Given the description of an element on the screen output the (x, y) to click on. 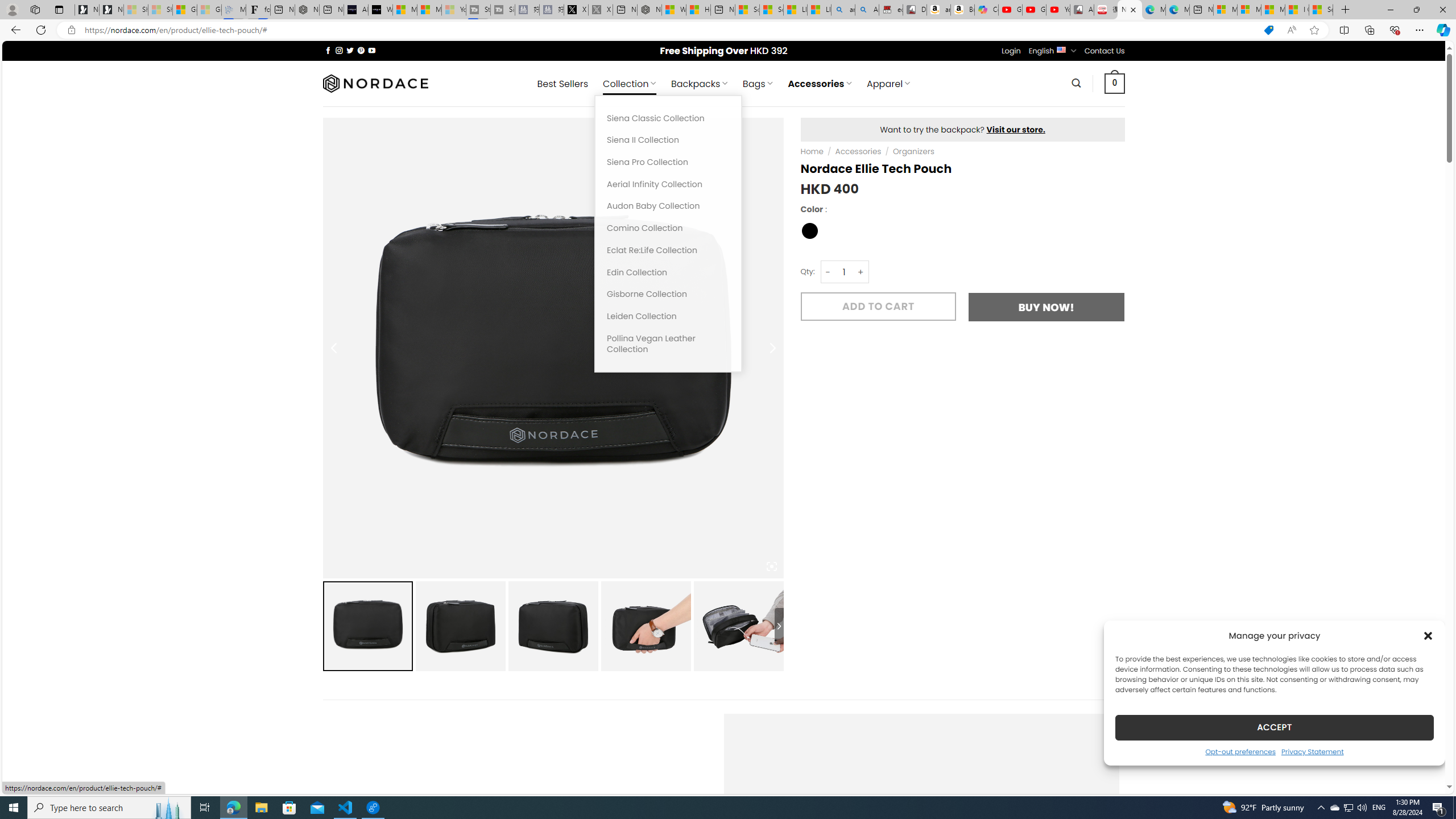
New Tab (1346, 9)
Nordace Ellie Tech Pouch (738, 625)
amazon - Search (843, 9)
Huge shark washes ashore at New York City beach | Watch (697, 9)
What's the best AI voice generator? - voice.ai (380, 9)
Leiden Collection (668, 316)
Siena Classic Collection (668, 118)
Microsoft Start Sports (404, 9)
Login (1010, 50)
Opt-out preferences (1240, 750)
View site information (70, 29)
Microsoft Start (1273, 9)
